Given the description of an element on the screen output the (x, y) to click on. 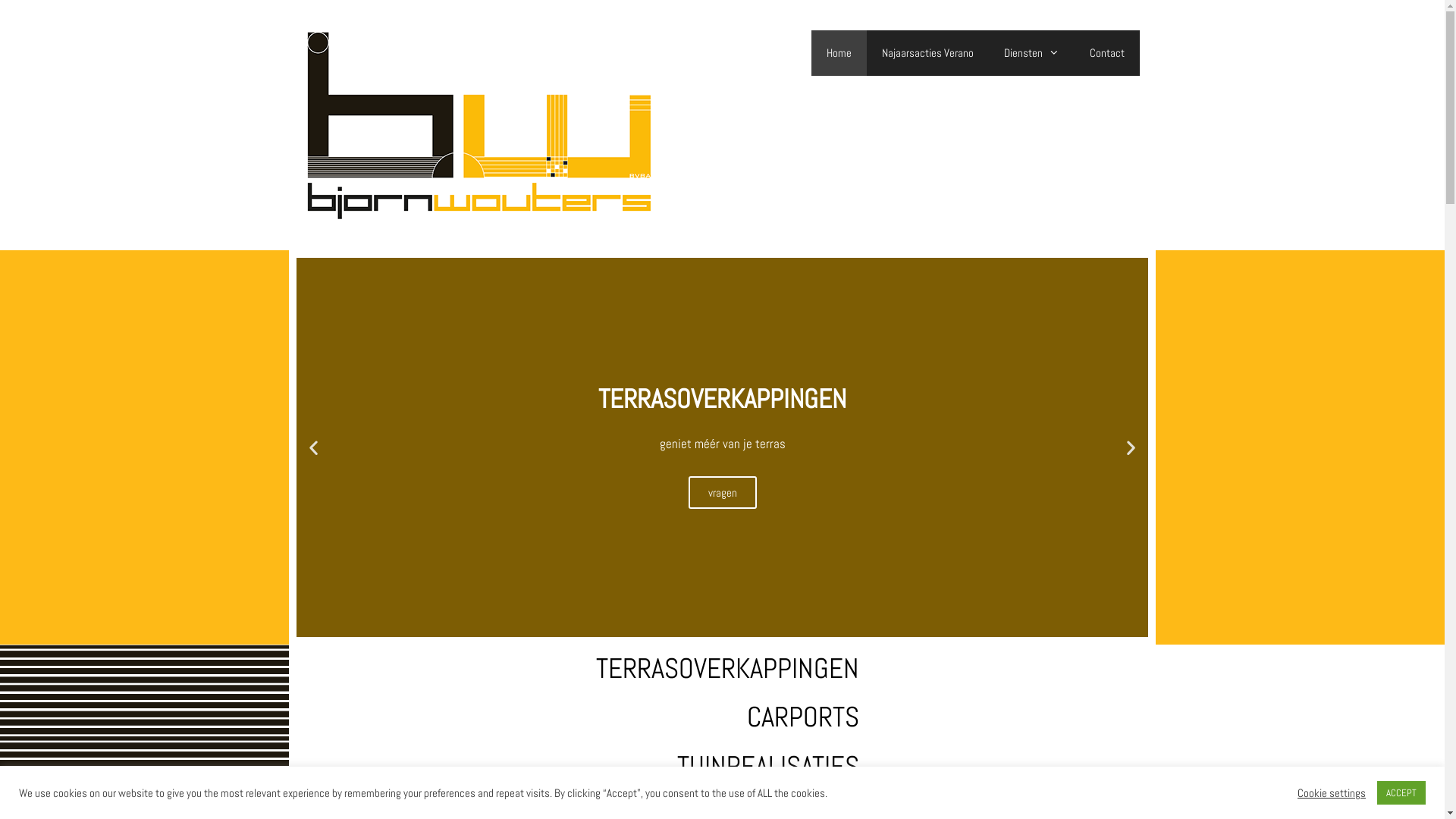
vragen Element type: text (722, 492)
Cookie settings Element type: text (1331, 792)
Contact Element type: text (1106, 52)
Najaarsacties Verano Element type: text (927, 52)
TERRASOVERKAPPINGEN Element type: text (727, 668)
ACCEPT Element type: text (1401, 792)
Diensten Element type: text (1031, 52)
TUINREALISATIES Element type: text (768, 766)
CARPORTS Element type: text (802, 716)
Home Element type: text (838, 52)
